Given the description of an element on the screen output the (x, y) to click on. 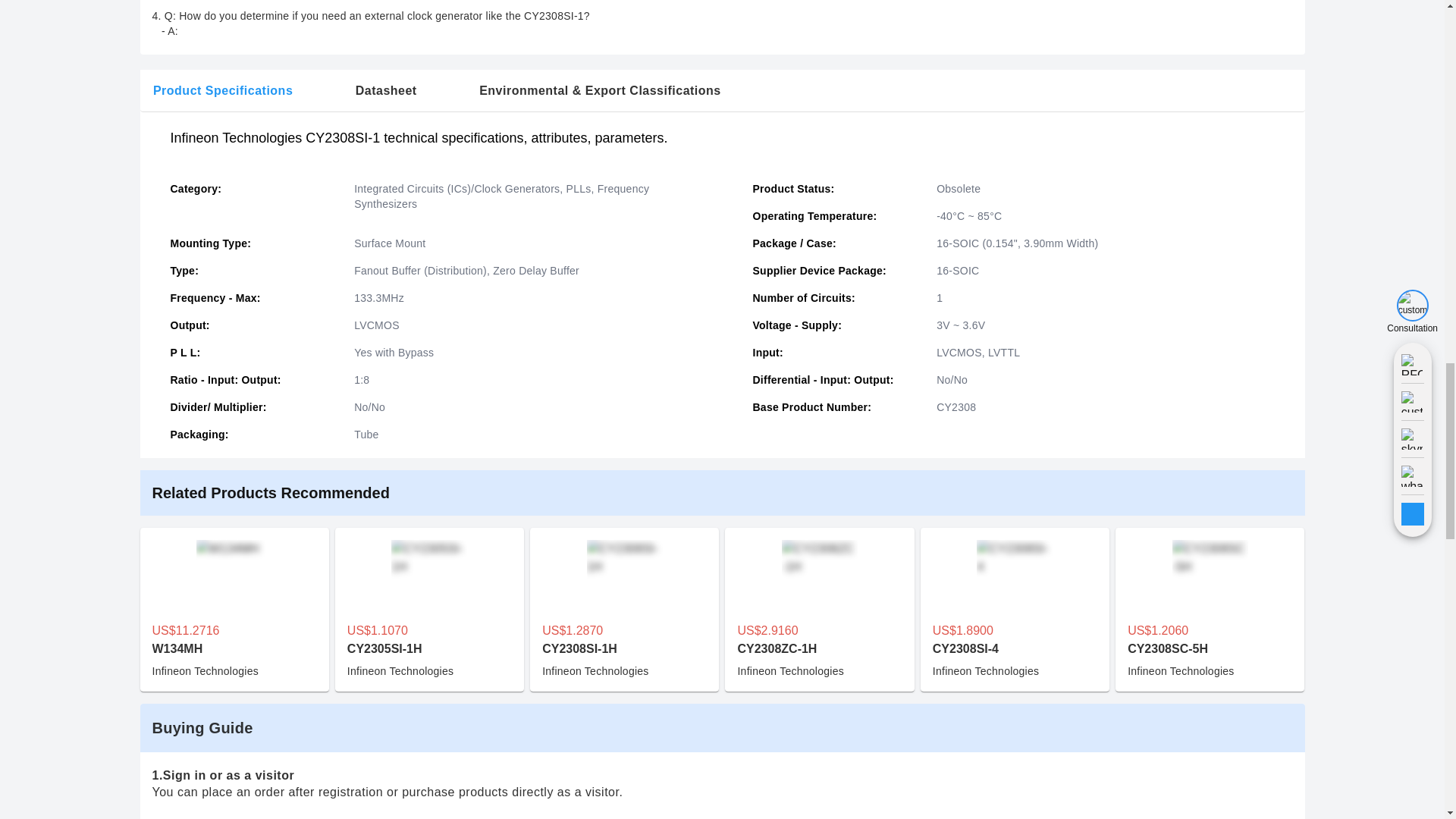
Infineon Technologies CY2308SI-1H IC FANOUT BUFFER 16SOIC (623, 609)
Infineon Technologies CY2308SC-5H IC FANOUT BUFFER 16SOIC (1209, 609)
Product Specifications (221, 90)
Infineon Technologies CY2308SI-4 IC FANOUT BUFFER 16SOIC (1015, 609)
Datasheet (385, 90)
Infineon Technologies CY2308ZC-1H IC FANOUT BUFFER 16TSSOP (818, 609)
Infineon Technologies CY2305SI-1H IC FANOUT BUFFER 8SOIC (429, 609)
